Given the description of an element on the screen output the (x, y) to click on. 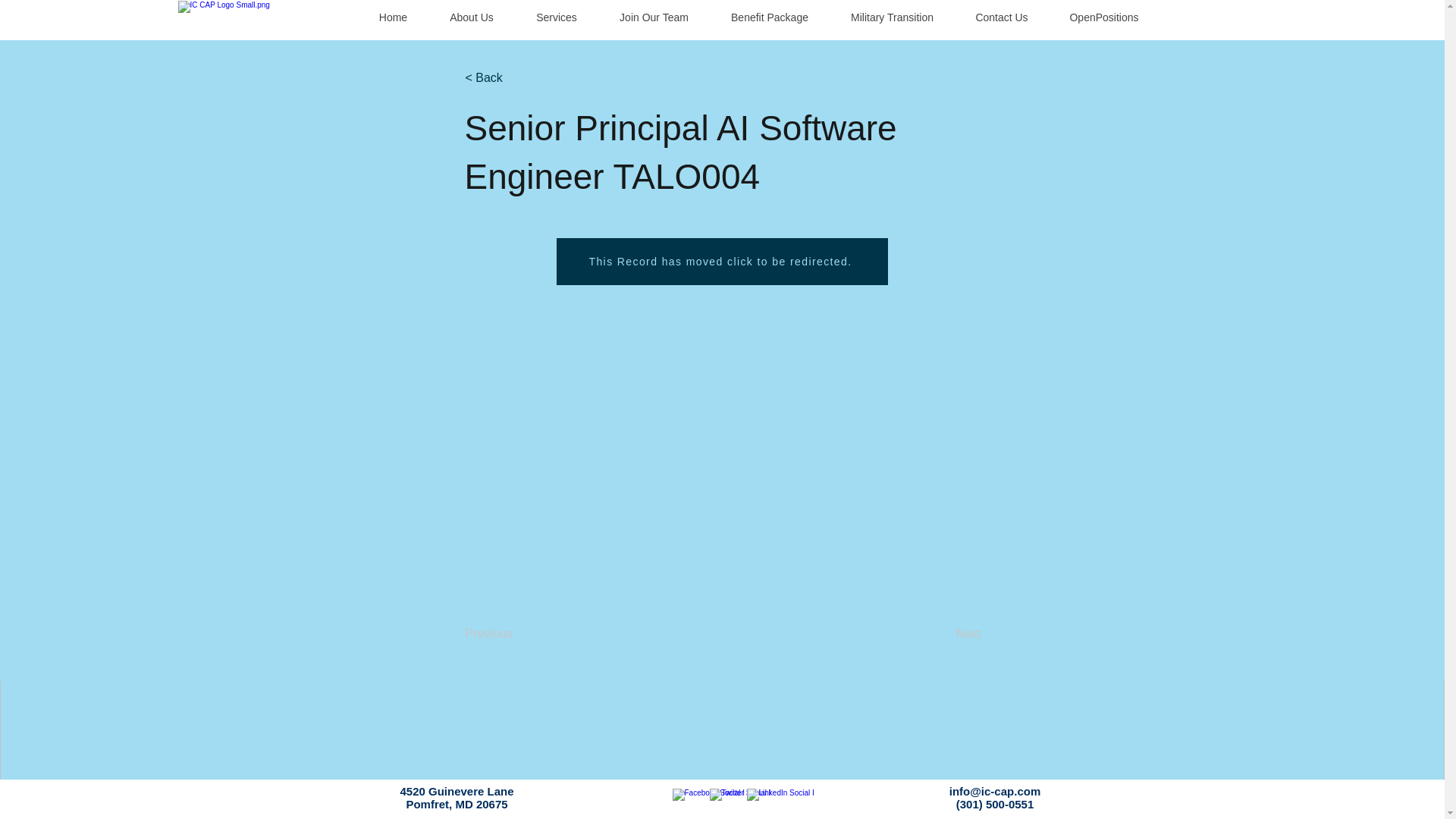
Military Transition (892, 17)
Contact Us (1000, 17)
Previous (515, 634)
Benefit Package (769, 17)
Services (554, 17)
This Record has moved click to be redirected. (722, 261)
Next (943, 634)
Join Our Team (652, 17)
About Us (470, 17)
Home (393, 17)
